Given the description of an element on the screen output the (x, y) to click on. 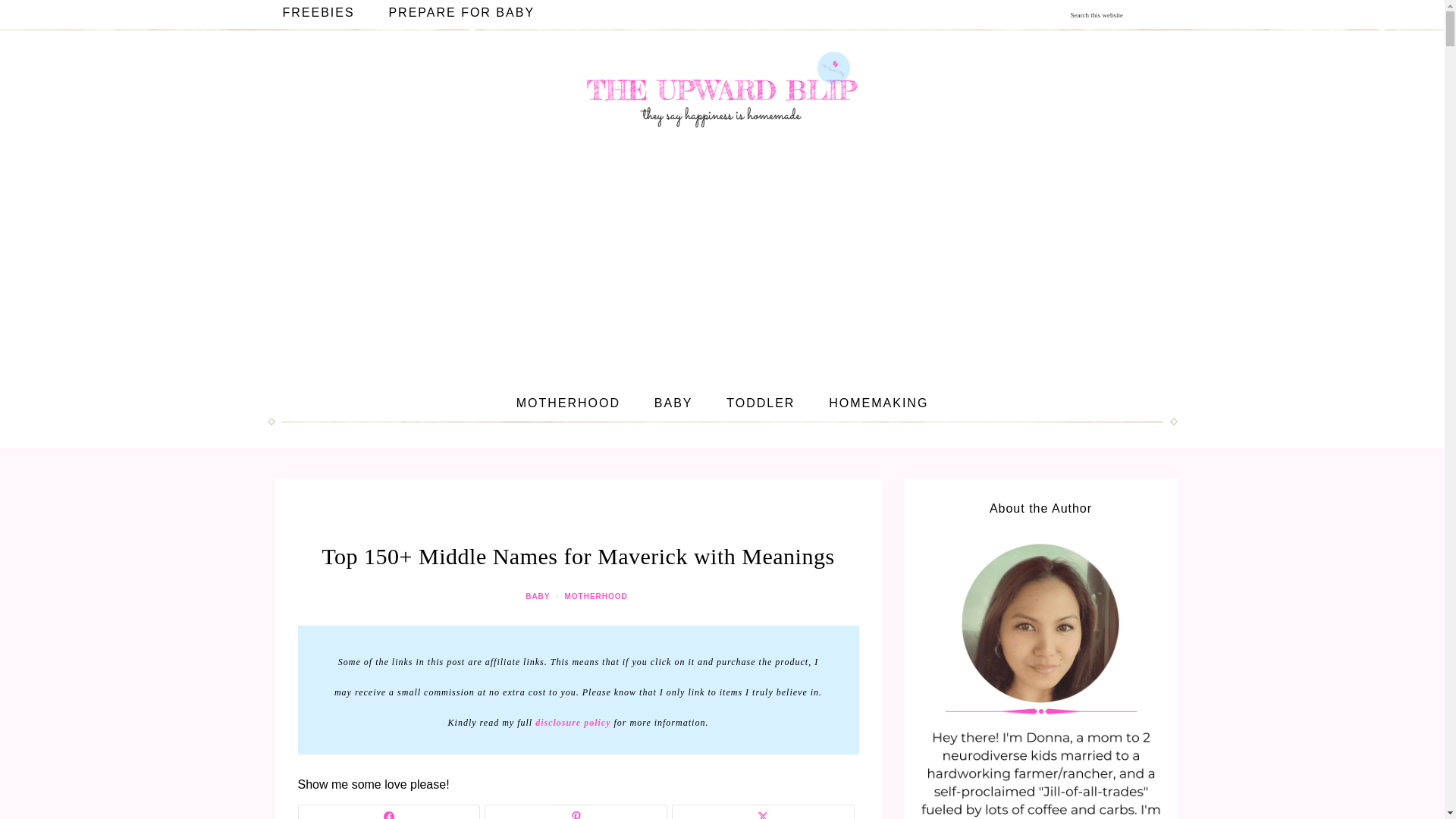
HOMEMAKING (878, 403)
TODDLER (760, 403)
FREEBIES (317, 12)
disclosure policy (572, 722)
MOTHERHOOD (596, 596)
PREPARE FOR BABY (461, 12)
BABY (673, 403)
THE UPWARD BLIP (722, 96)
BABY (539, 596)
MOTHERHOOD (567, 403)
